Given the description of an element on the screen output the (x, y) to click on. 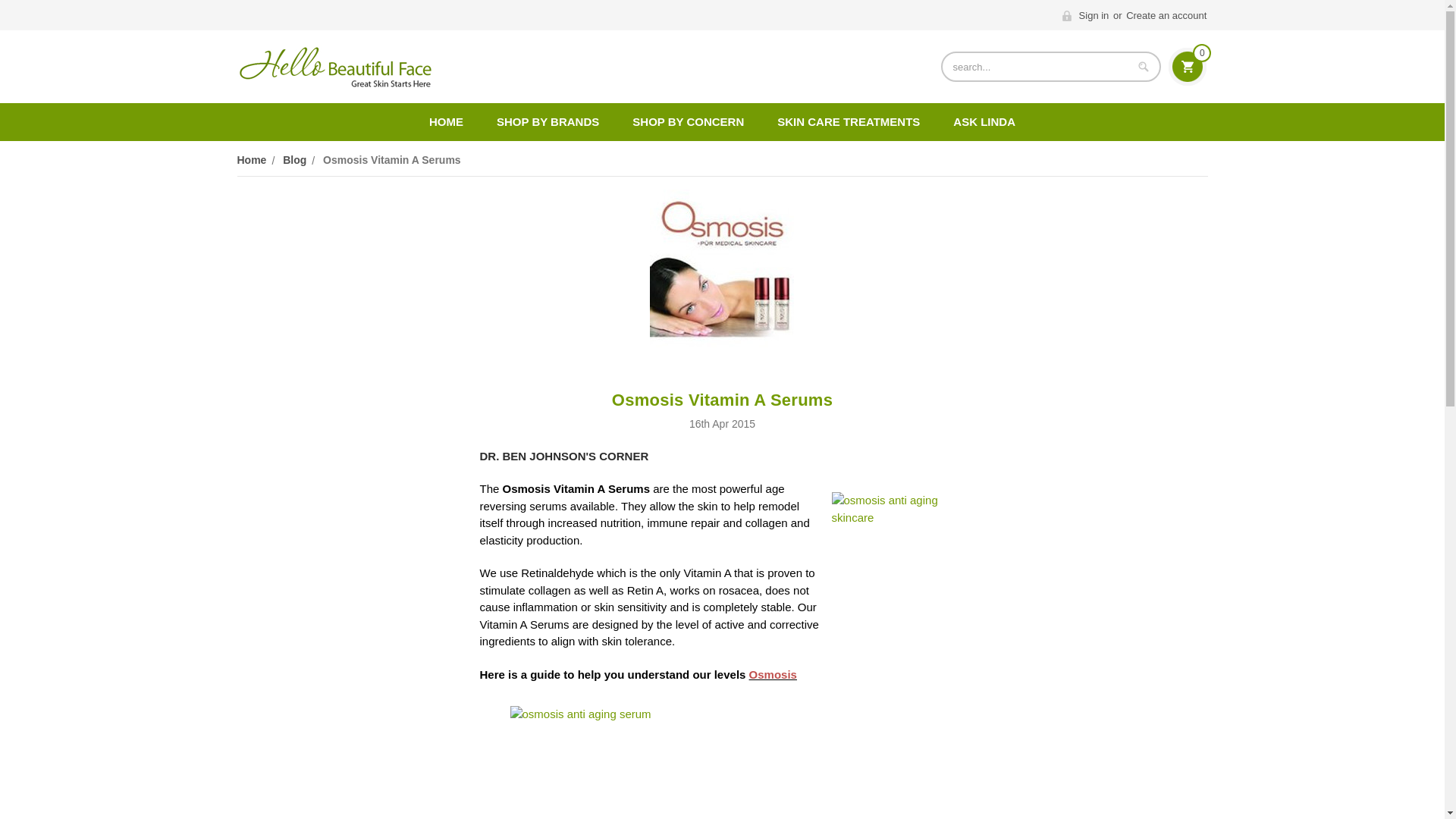
Create an account (1166, 15)
0 (1188, 66)
HOME (446, 121)
Hello Beautiful Face (333, 66)
Sign in (1085, 15)
